Given the description of an element on the screen output the (x, y) to click on. 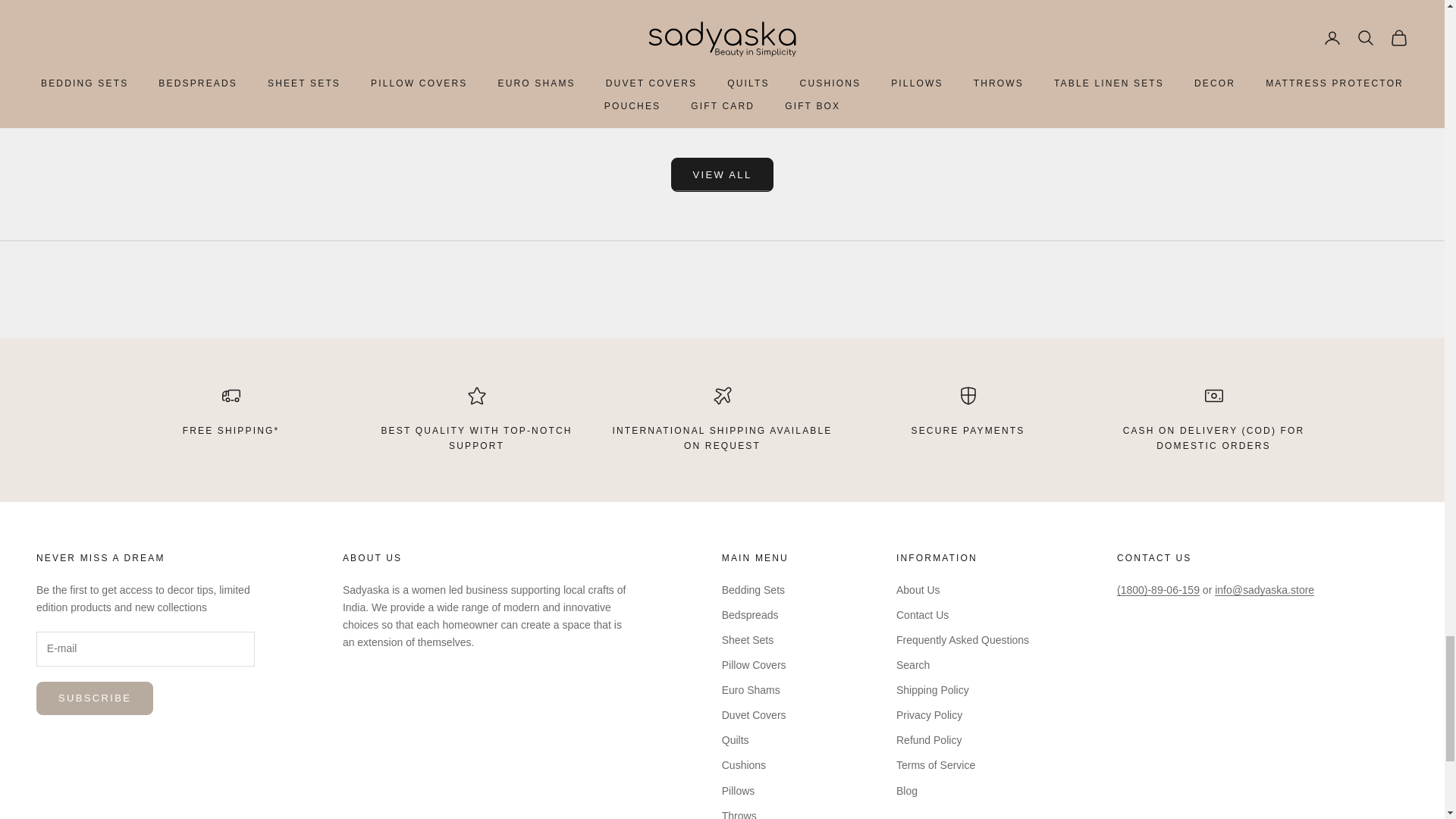
About us (371, 557)
Contact Us (1154, 557)
